Given the description of an element on the screen output the (x, y) to click on. 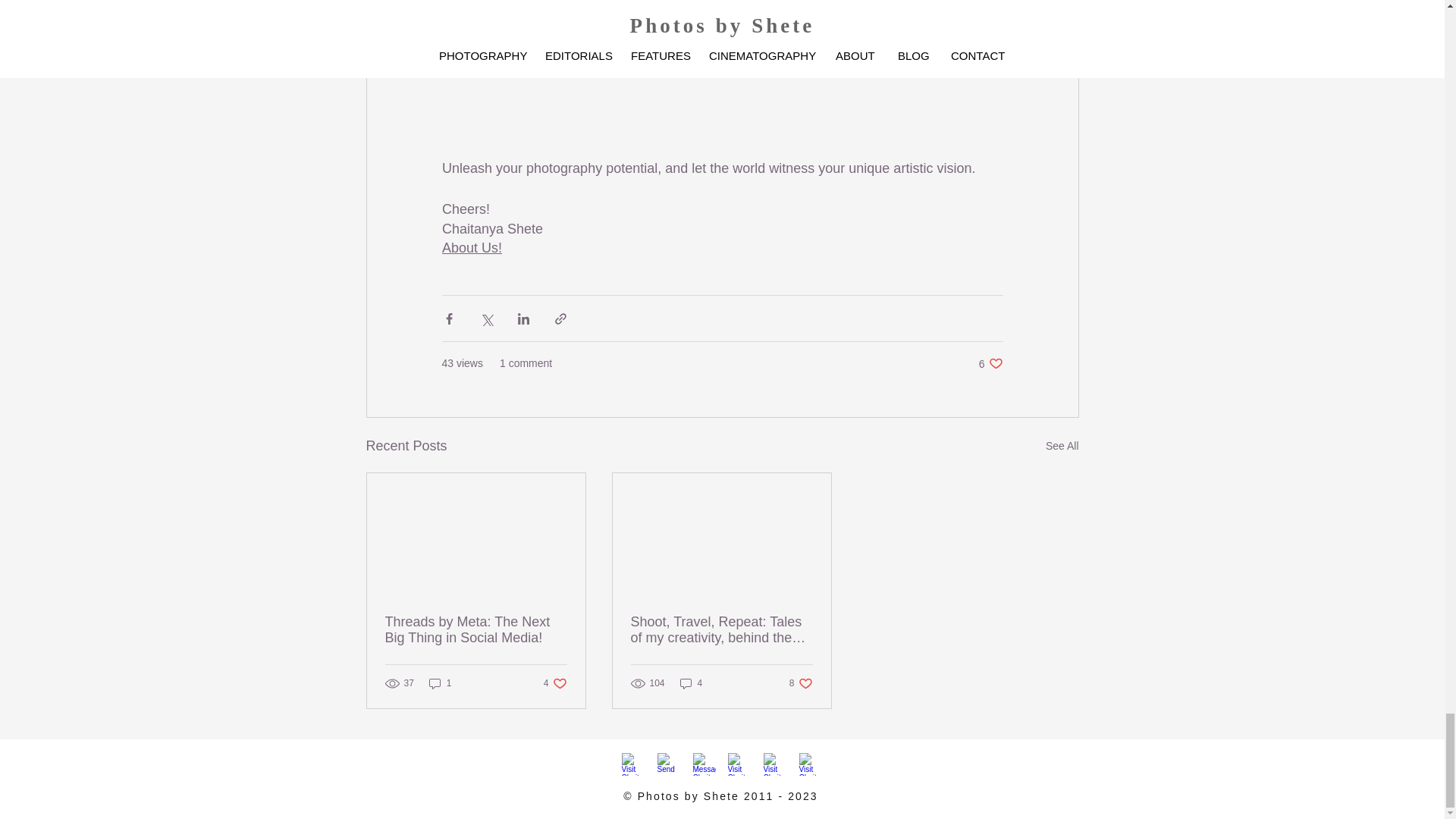
Threads by Meta: The Next Big Thing in Social Media! (476, 630)
1 (555, 683)
About Us! (440, 683)
See All (470, 247)
